Given the description of an element on the screen output the (x, y) to click on. 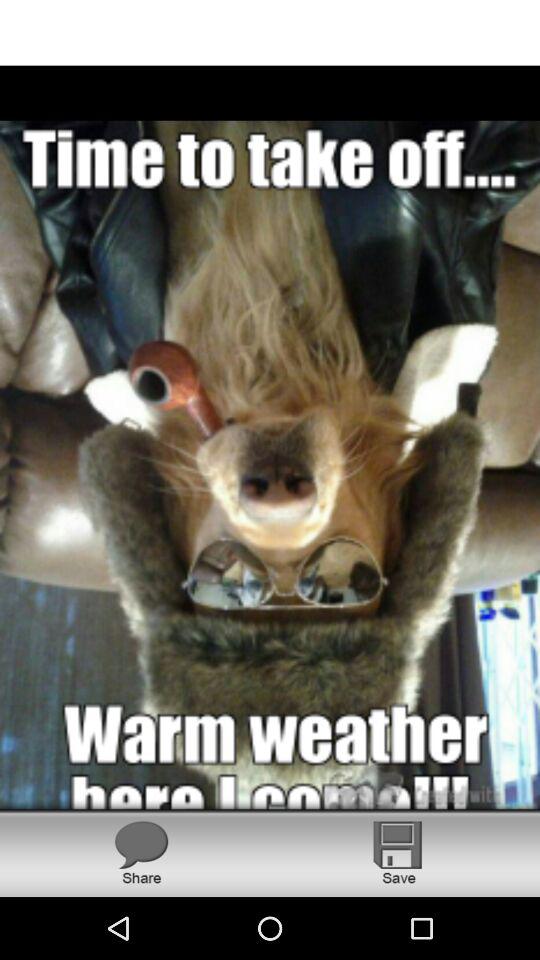
launch the item at the top (270, 32)
